Given the description of an element on the screen output the (x, y) to click on. 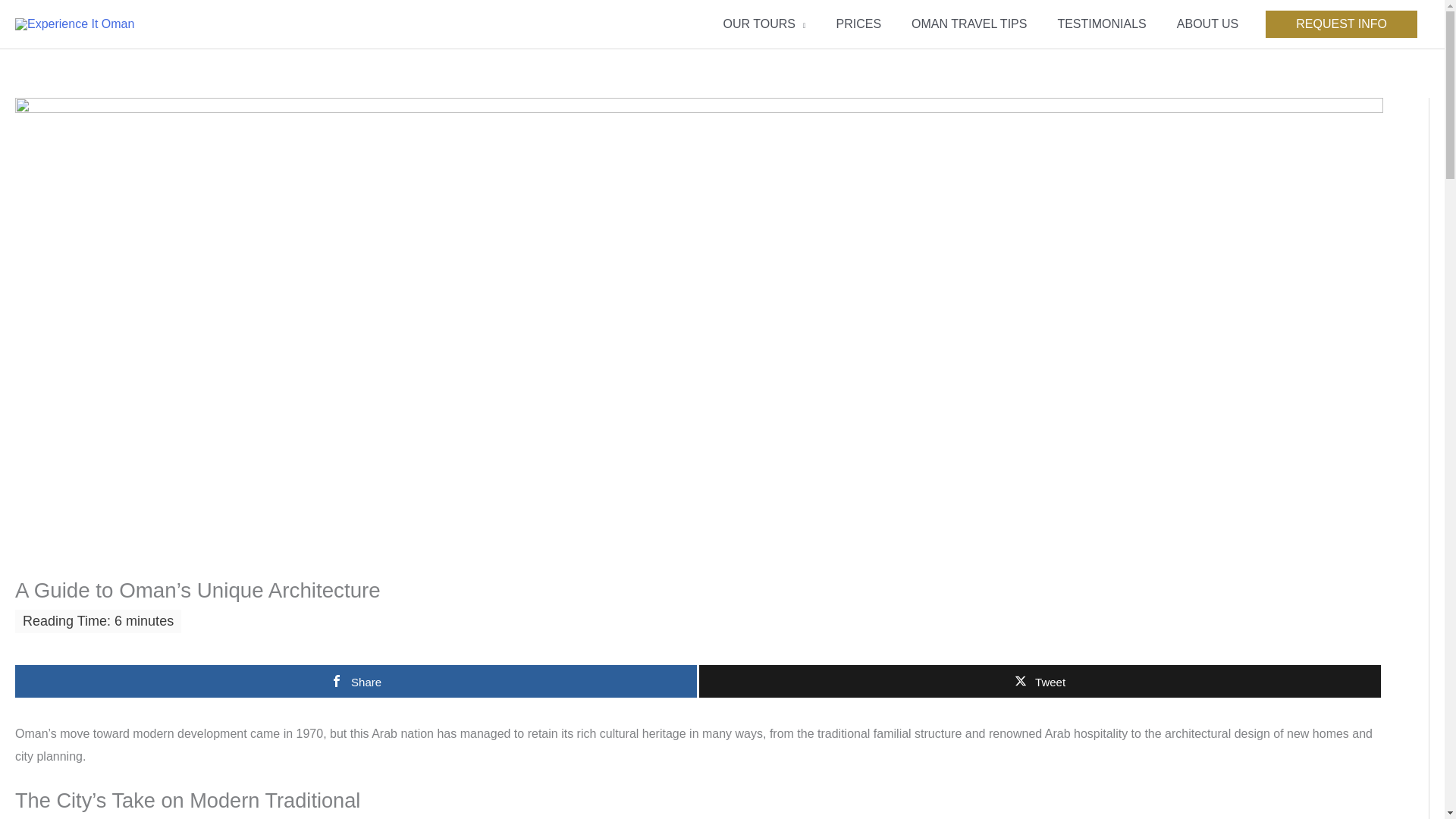
ABOUT US (1207, 24)
TESTIMONIALS (1101, 24)
PRICES (858, 24)
Share (355, 681)
OUR TOURS (764, 24)
OMAN TRAVEL TIPS (969, 24)
REQUEST INFO (1340, 23)
Tweet (1039, 681)
